Given the description of an element on the screen output the (x, y) to click on. 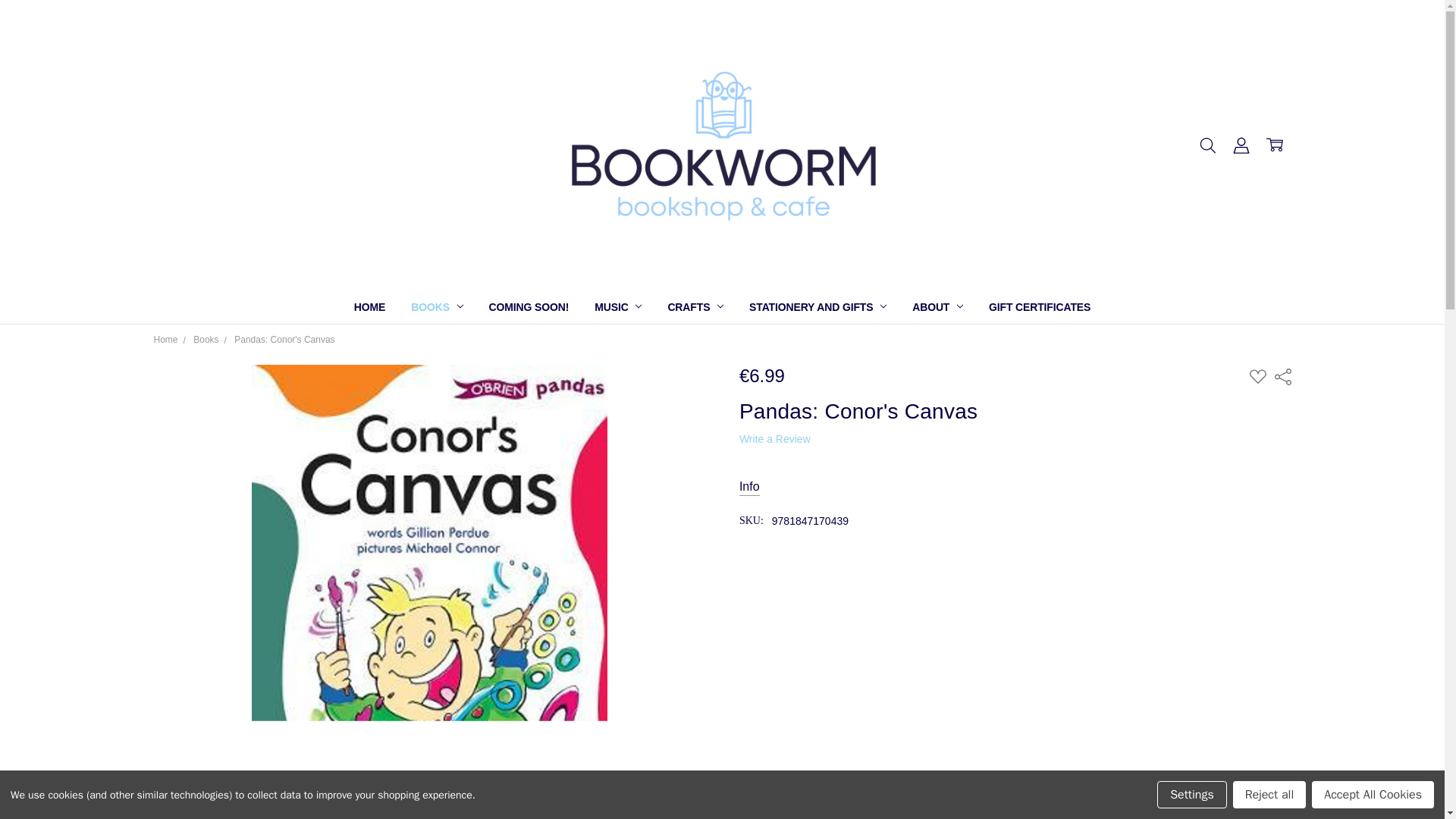
BOOKS (436, 306)
HOME (368, 306)
Show All (743, 307)
